Given the description of an element on the screen output the (x, y) to click on. 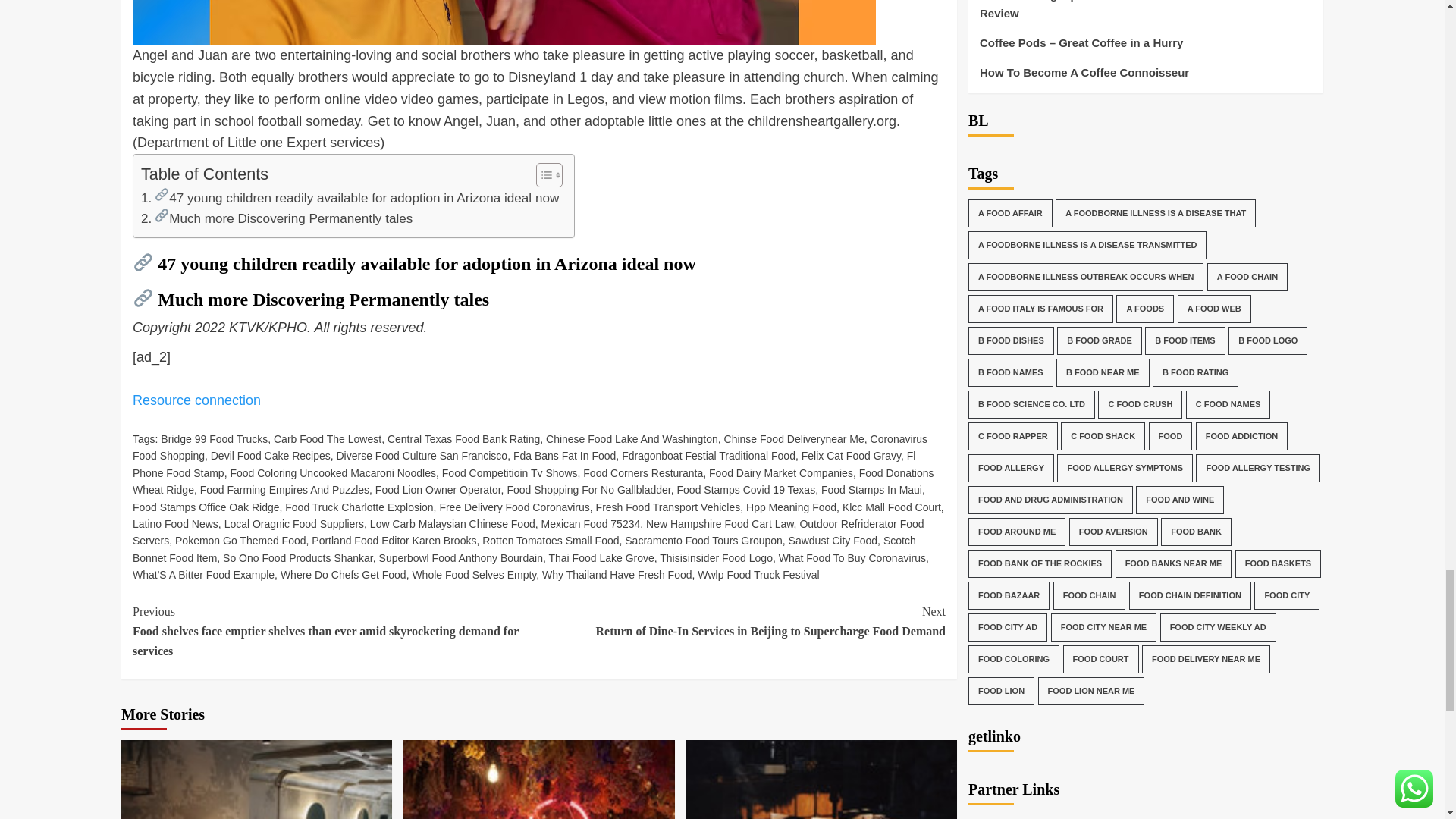
Fda Bans Fat In Food (564, 455)
Fdragonboat Festial Traditional Food (707, 455)
Devil Food Cake Recipes (270, 455)
Felix Cat Food Gravy (851, 455)
Bridge 99 Food Trucks (213, 439)
Resource connection (196, 400)
Coronavirus Food Shopping (529, 447)
Chinese Food Lake And Washington (631, 439)
Why People Love Barbecue (820, 779)
Chinse Food Deliverynear Me (793, 439)
Diverse Food Culture San Francisco (422, 455)
Carb Food The Lowest (327, 439)
Much more Discovering Permanently tales (276, 218)
Central Texas Food Bank Rating (463, 439)
